Given the description of an element on the screen output the (x, y) to click on. 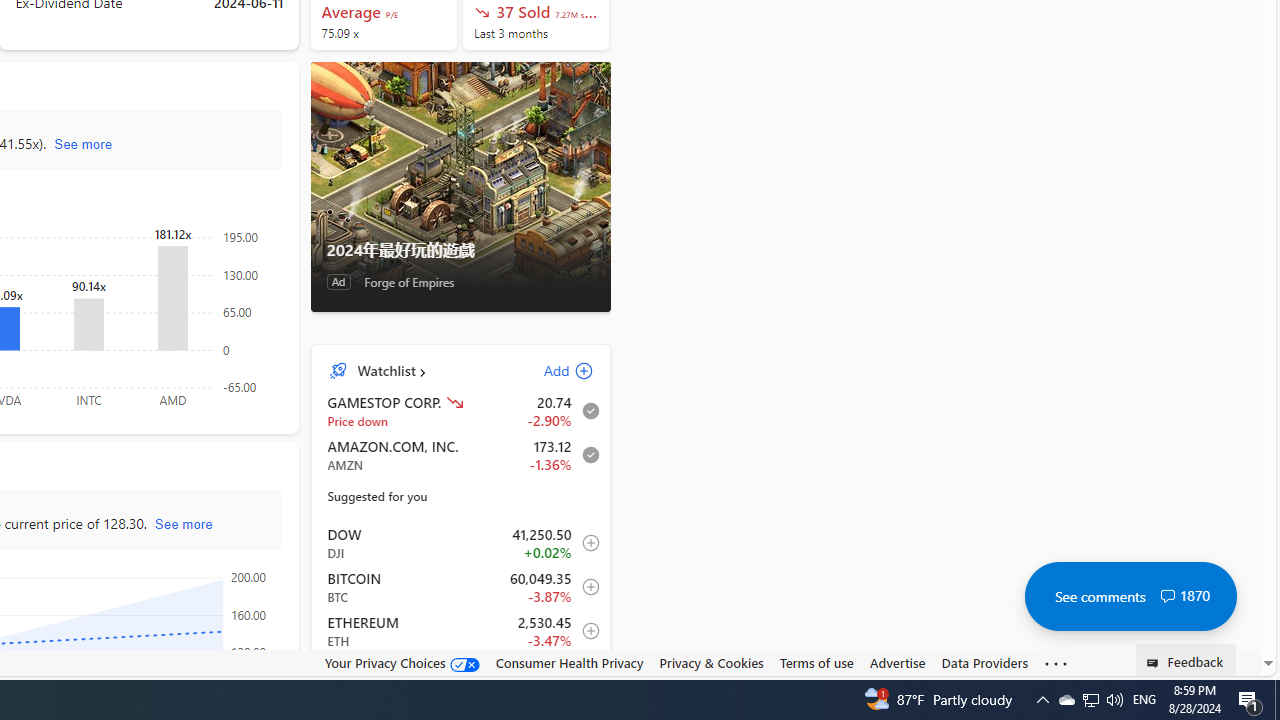
Watchlist (386, 370)
Remove from watchlist (585, 454)
Privacy & Cookies (711, 663)
GME GAMESTOP CORP. decrease 20.74 -0.62 -2.90% itemundefined (461, 410)
BNB BNB decrease 543.57 -7.28 -1.34% item3 (461, 674)
ETH Ethereum decrease 2,530.45 -87.83 -3.47% item2 (461, 631)
Class: cwt-icon-vector (1167, 596)
Terms of use (816, 663)
BTC Bitcoin decrease 60,049.35 -2,320.91 -3.87% item1 (461, 587)
Class: feedback_link_icon-DS-EntryPoint1-1 (1156, 663)
Advertise (897, 663)
